Given the description of an element on the screen output the (x, y) to click on. 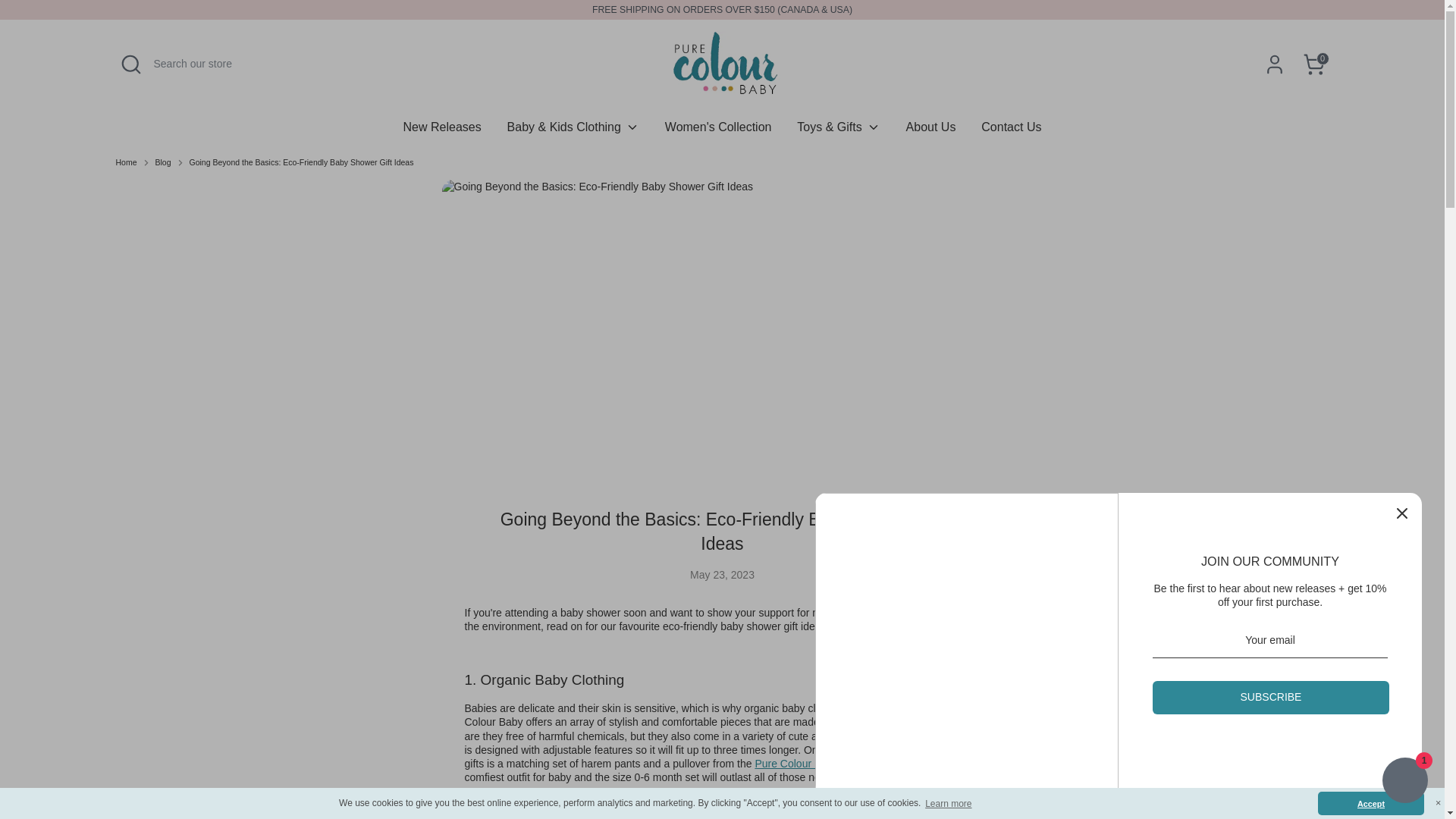
Shopify online store chat (1404, 781)
Pure Colour Basics Collection: Grow-With-Me Baby Clothes (823, 763)
0 (1312, 64)
Learn more (948, 803)
Accept (1370, 802)
